Given the description of an element on the screen output the (x, y) to click on. 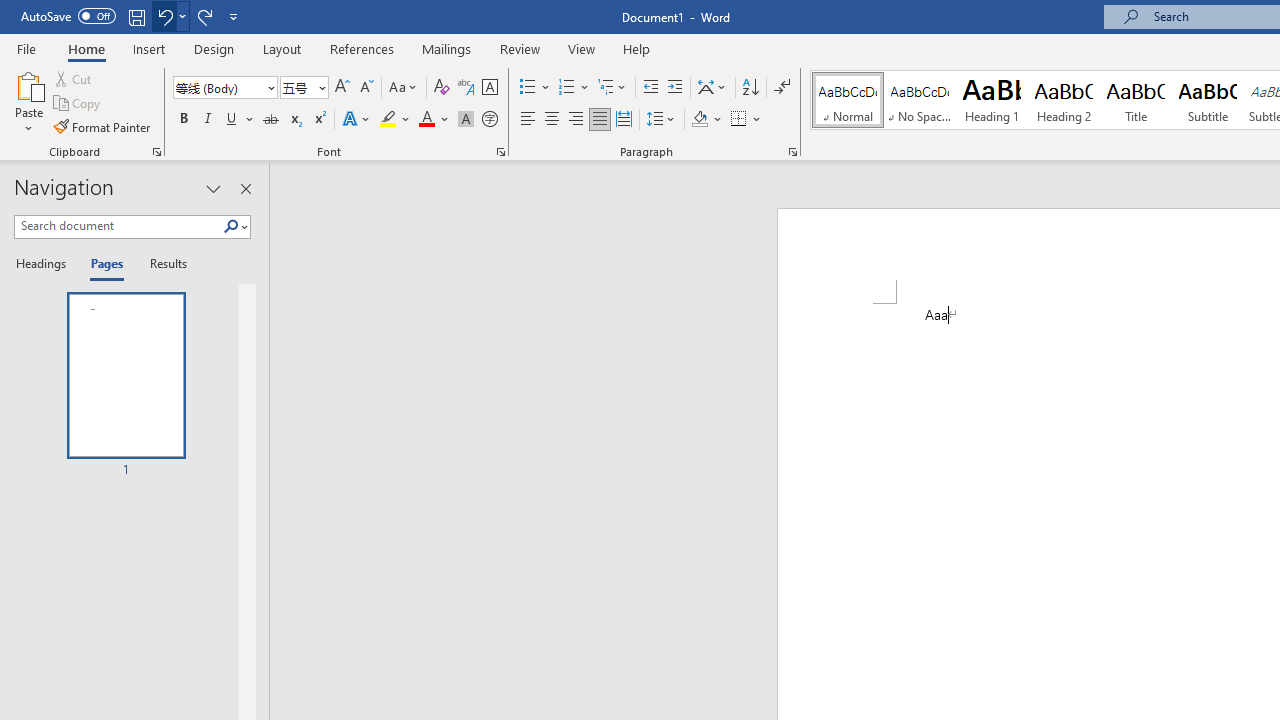
Bullets (527, 87)
Shrink Font (365, 87)
Grow Font (342, 87)
Layout (282, 48)
Borders (739, 119)
System (10, 11)
Font Size (304, 87)
More Options (757, 119)
File Tab (26, 48)
Search document (118, 226)
Results (161, 264)
Center (552, 119)
Mailings (447, 48)
Italic (207, 119)
AutoSave (68, 16)
